Given the description of an element on the screen output the (x, y) to click on. 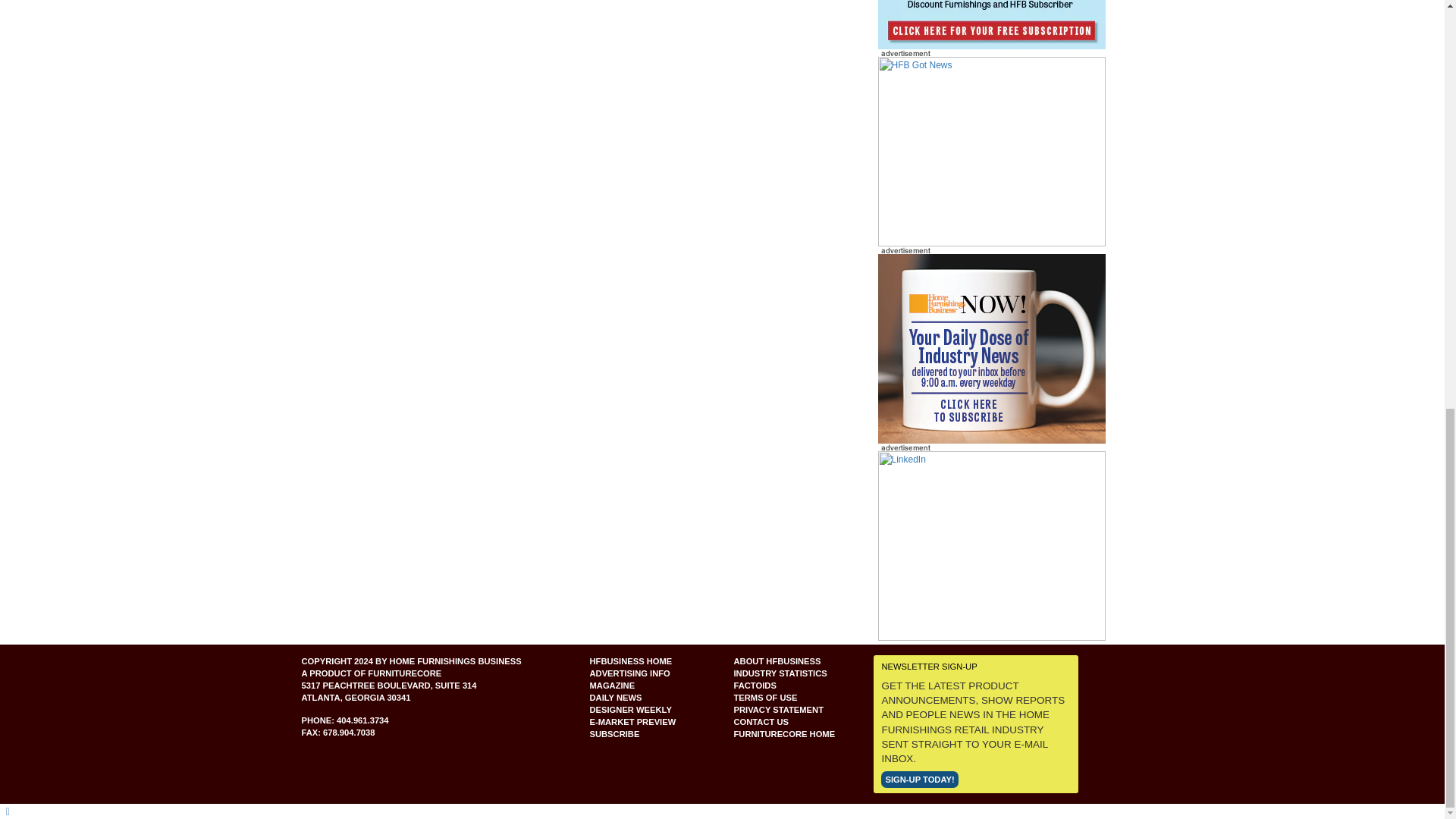
HFB Subscribe IHeart (991, 151)
HFB Designer Weekly (991, 347)
HFB Got News (991, 150)
HFB Subscribe IHeart Schell (991, 24)
